Given the description of an element on the screen output the (x, y) to click on. 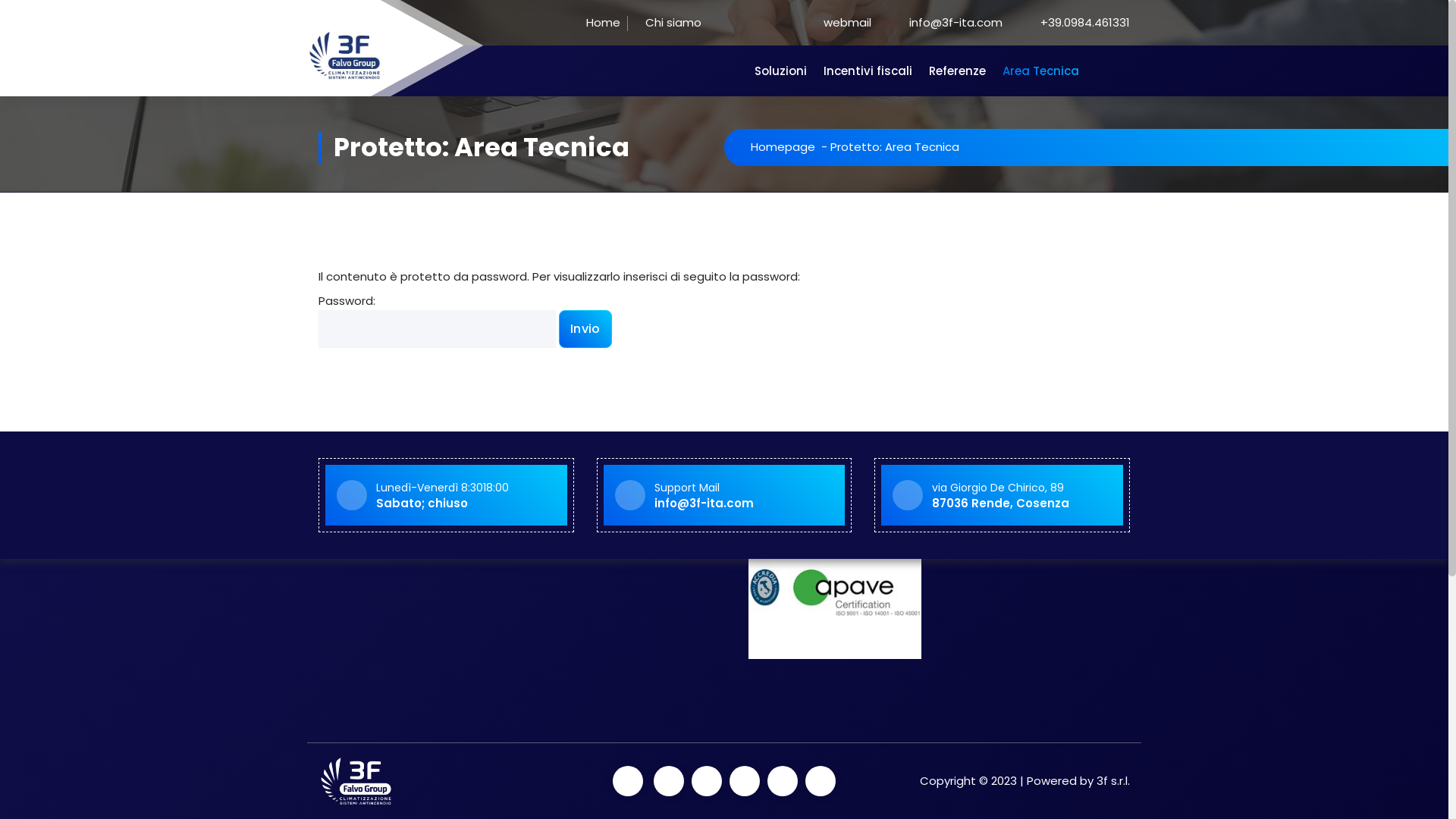
Chi siamo Element type: text (664, 23)
Cerca Element type: text (1105, 340)
Home Element type: text (585, 23)
Support Mail
info@3f-ita.com Element type: text (703, 494)
webmail Element type: text (828, 22)
Uncategorized Element type: text (800, 329)
Soluzioni Element type: text (780, 70)
Area Tecnica Element type: text (1040, 70)
via Giorgio De Chirico, 89
87036 Rende, Cosenza Element type: text (1000, 494)
Invio Element type: text (584, 328)
Homepage Element type: text (782, 146)
Referenze Element type: text (956, 70)
Incentivi fiscali Element type: text (867, 70)
info@3f-ita.com Element type: text (947, 22)
+39.0984.461331 Element type: text (1084, 22)
